Given the description of an element on the screen output the (x, y) to click on. 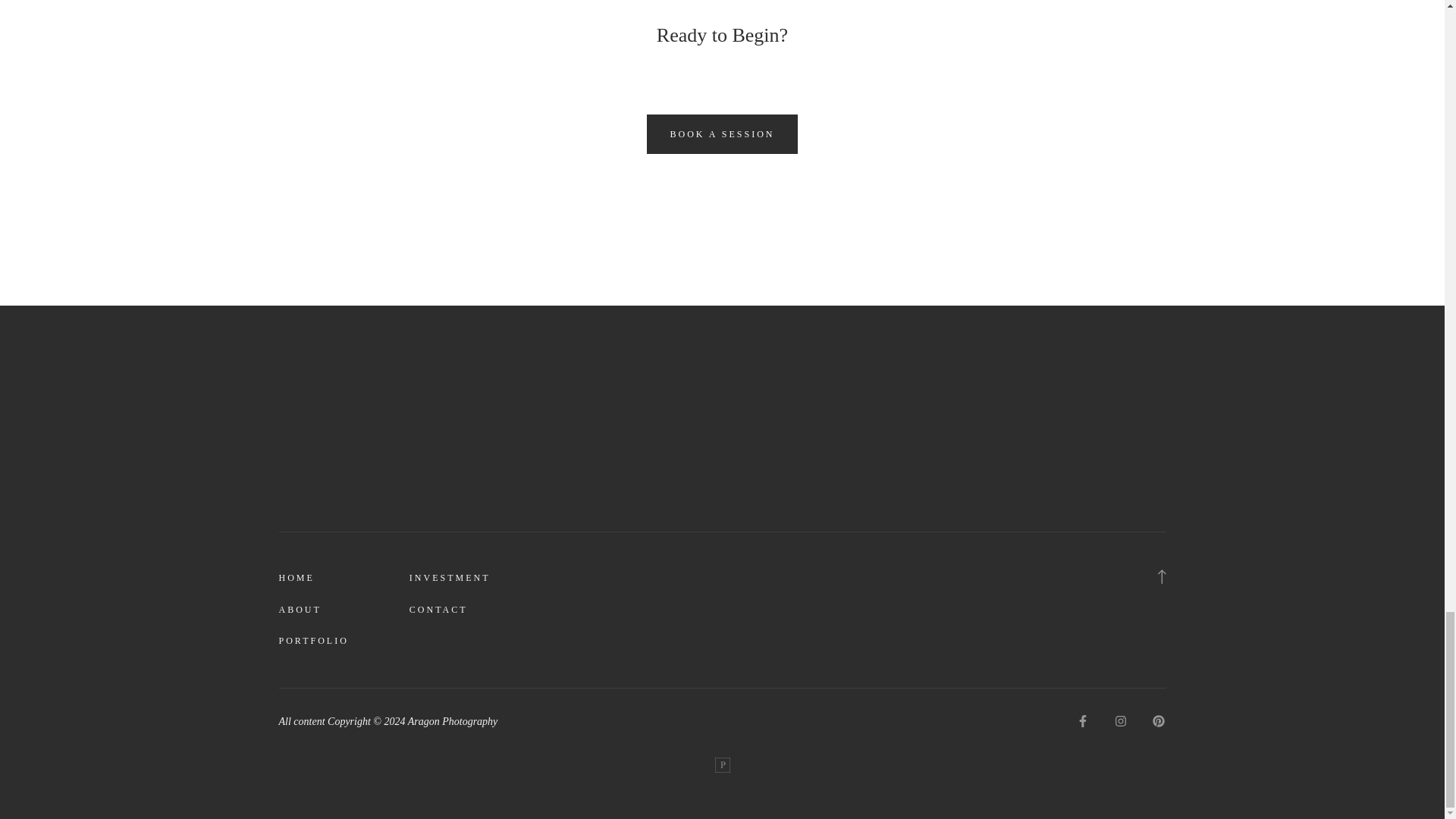
HOME (296, 578)
BOOK A SESSION (721, 133)
ABOUT (300, 610)
PORTFOLIO (314, 641)
